Given the description of an element on the screen output the (x, y) to click on. 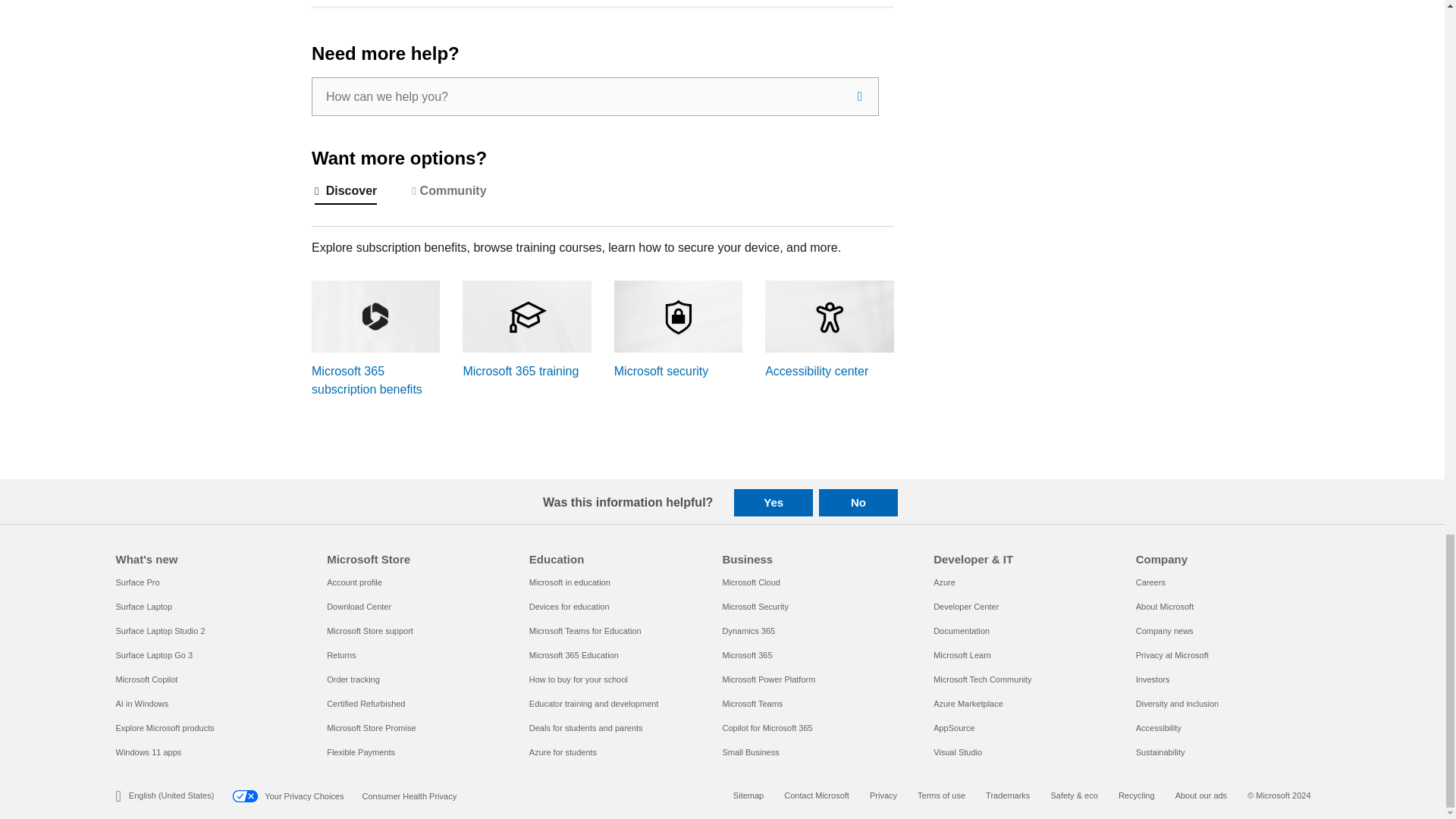
Search (860, 96)
